Given the description of an element on the screen output the (x, y) to click on. 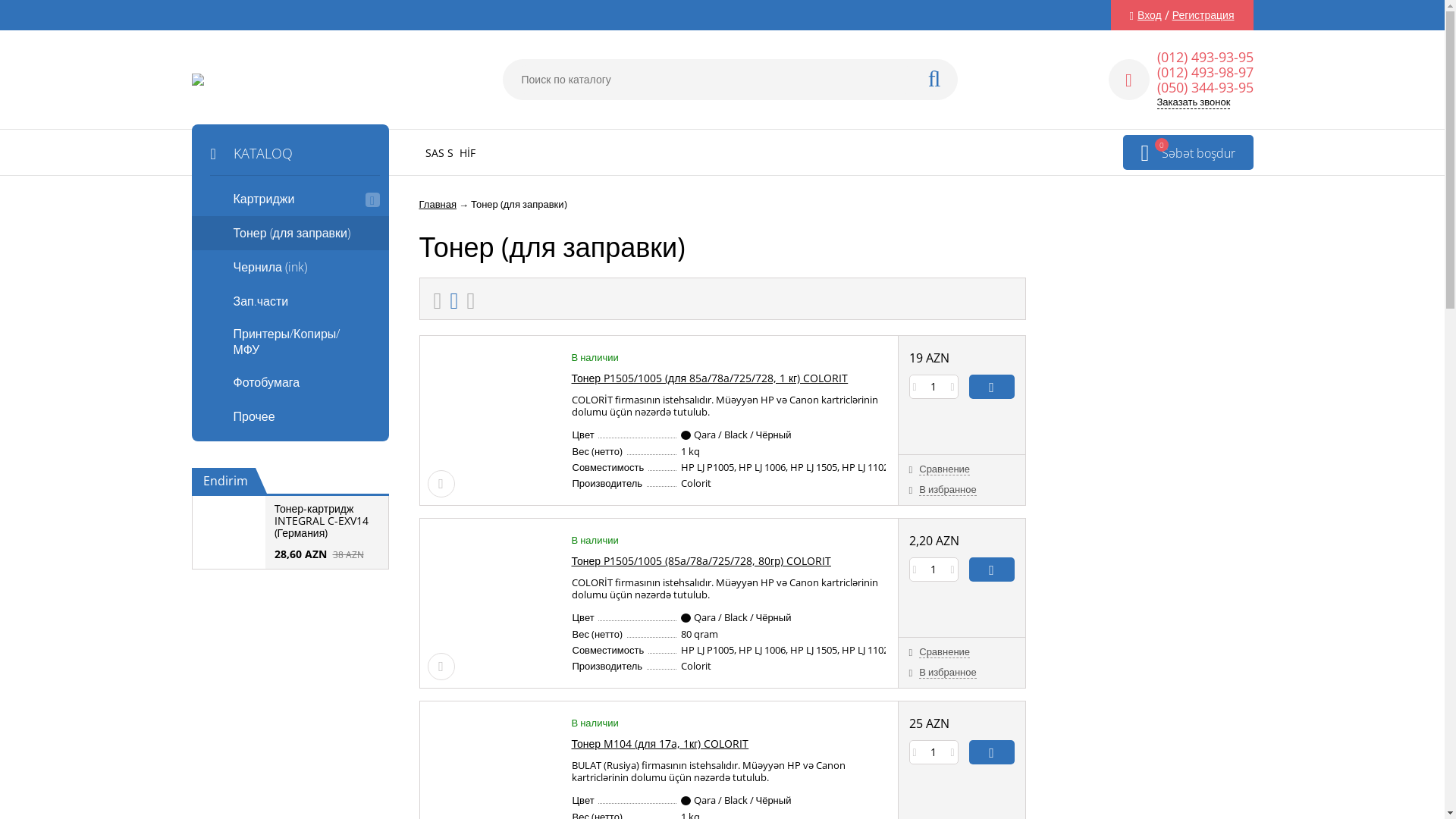
KATALOQ Element type: text (289, 149)
